Given the description of an element on the screen output the (x, y) to click on. 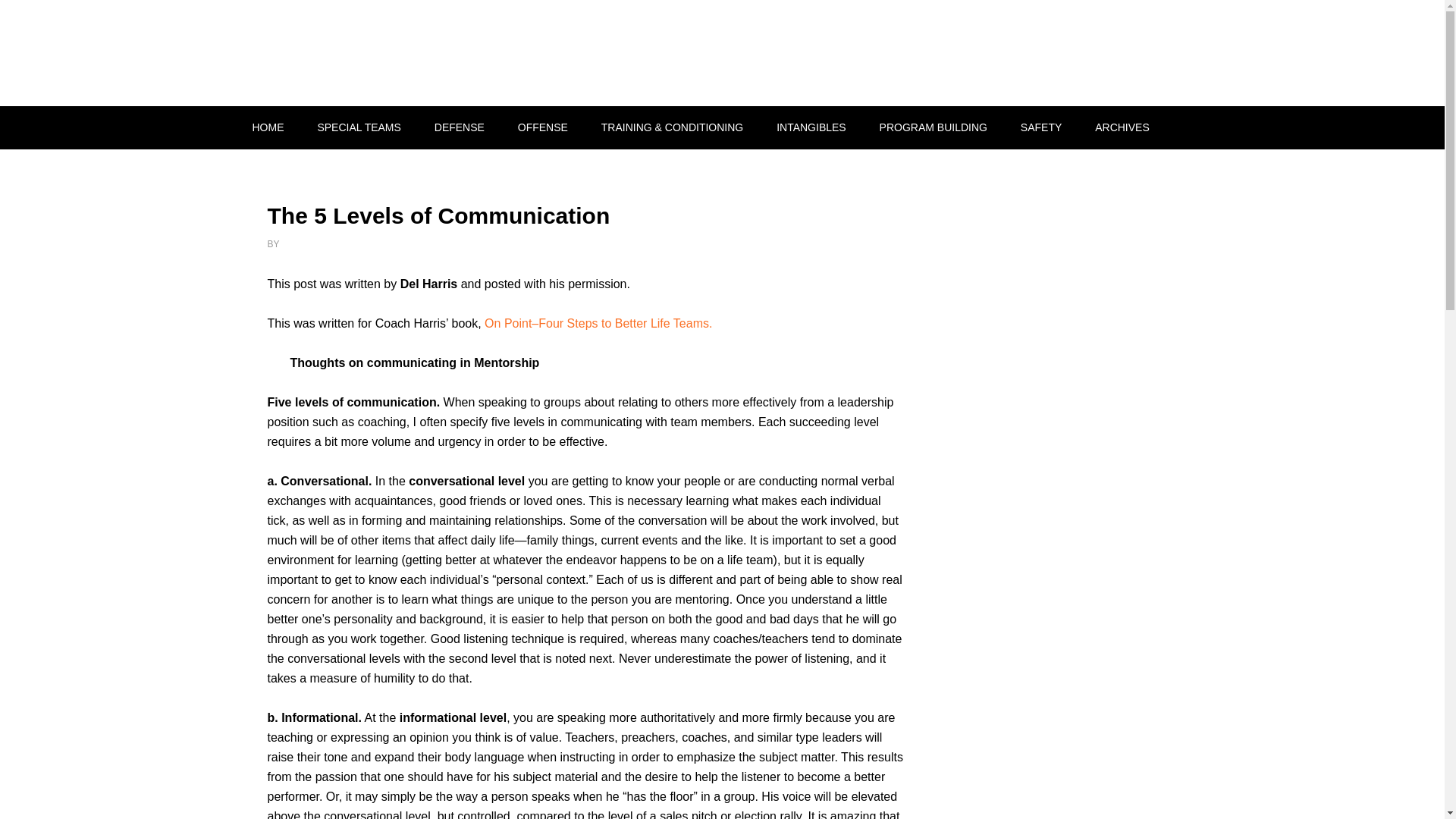
ARCHIVES (1122, 127)
SPECIAL TEAMS (357, 127)
DEFENSE (459, 127)
SAFETY (1041, 127)
PROGRAM BUILDING (933, 127)
HOME (266, 127)
OFFENSE (542, 127)
INTANGIBLES (811, 127)
FOOTBALL TOOLBOX (365, 52)
